Given the description of an element on the screen output the (x, y) to click on. 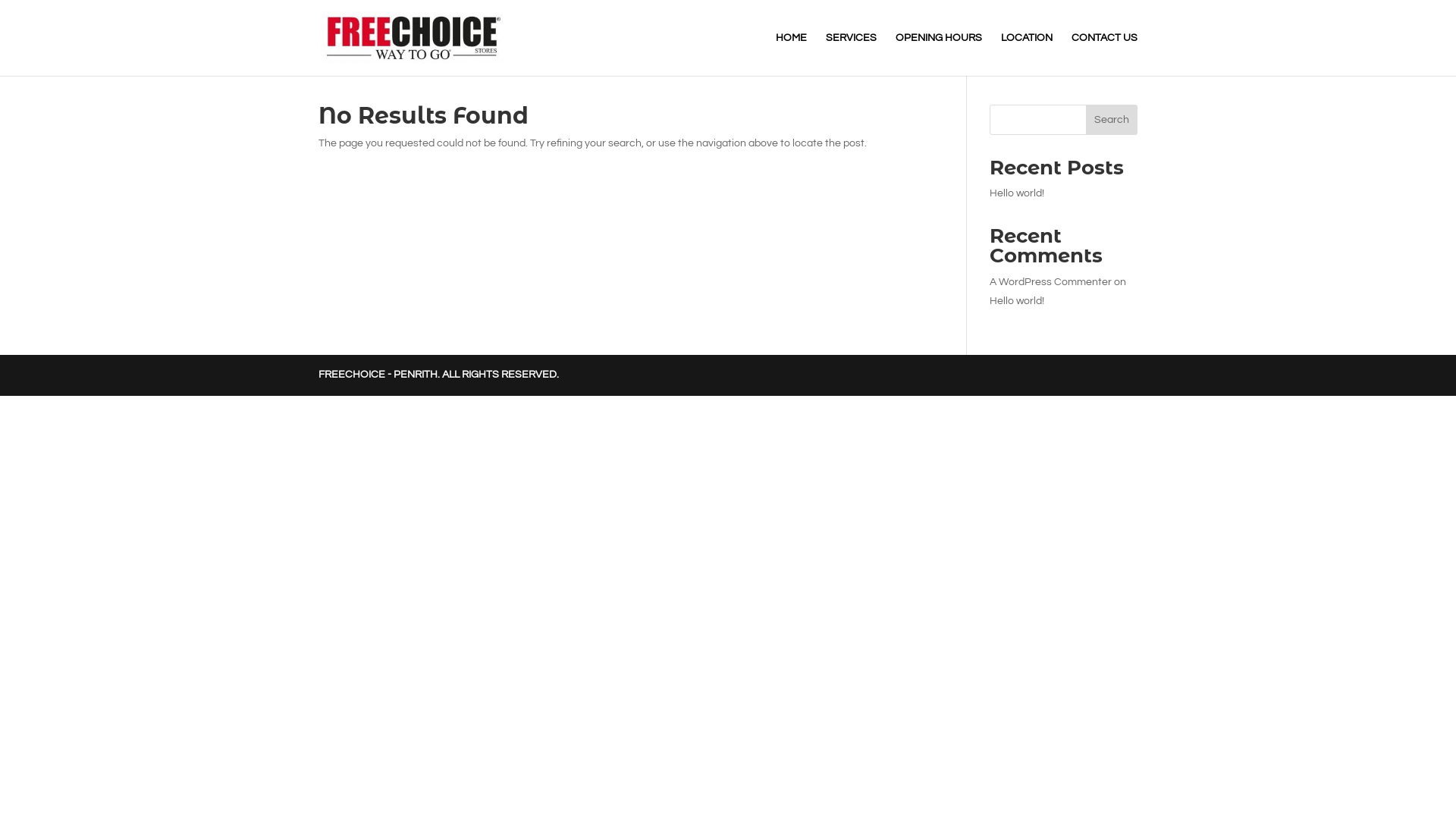
OPENING HOURS Element type: text (938, 53)
CONTACT US Element type: text (1104, 53)
HOME Element type: text (790, 53)
LOCATION Element type: text (1026, 53)
A WordPress Commenter Element type: text (1050, 281)
Search Element type: text (1111, 119)
Hello world! Element type: text (1016, 300)
SERVICES Element type: text (850, 53)
Hello world! Element type: text (1016, 193)
